Given the description of an element on the screen output the (x, y) to click on. 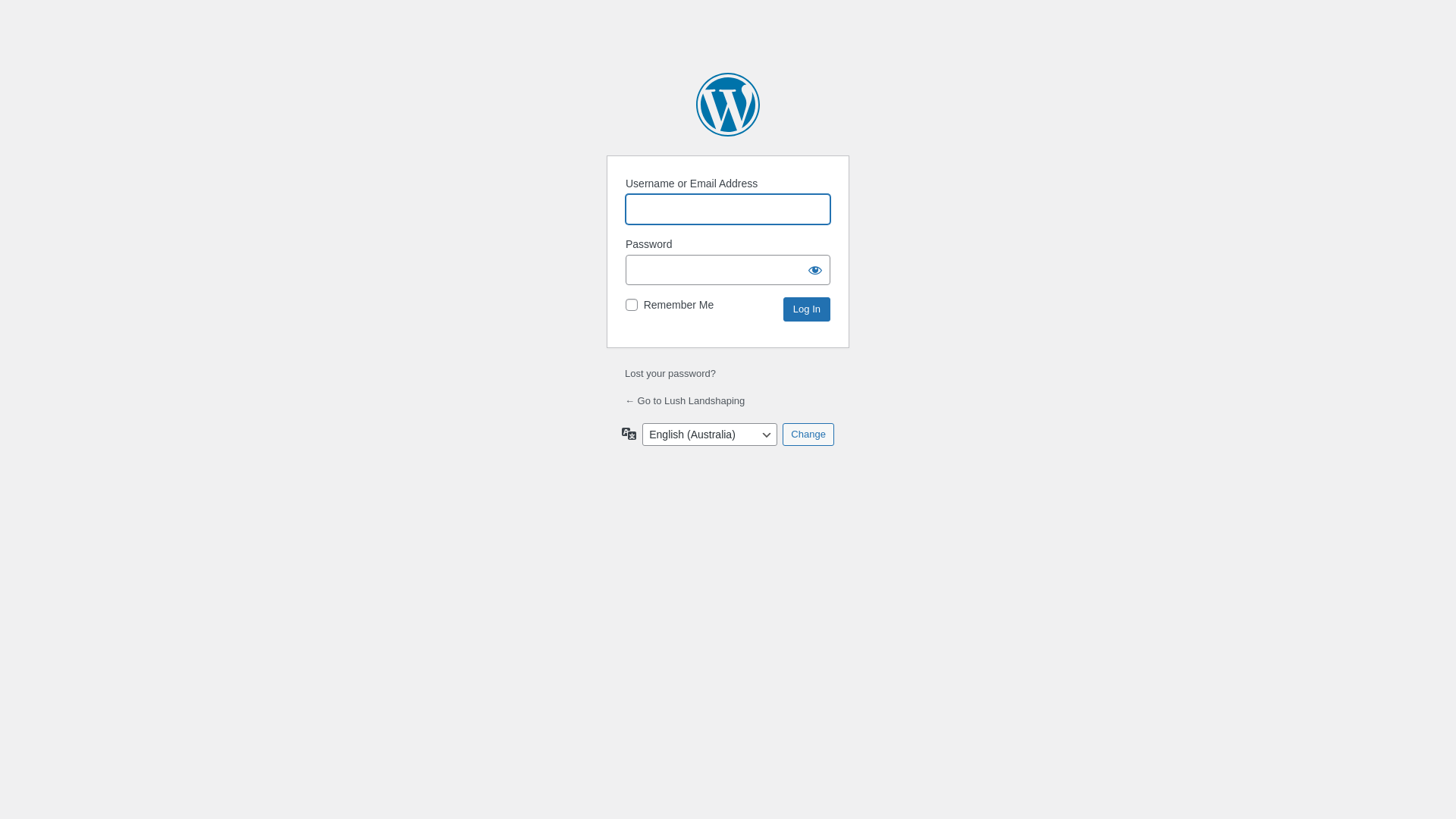
Lost your password? Element type: text (669, 373)
Change Element type: text (808, 434)
Powered by WordPress Element type: text (727, 104)
Log In Element type: text (806, 309)
